Given the description of an element on the screen output the (x, y) to click on. 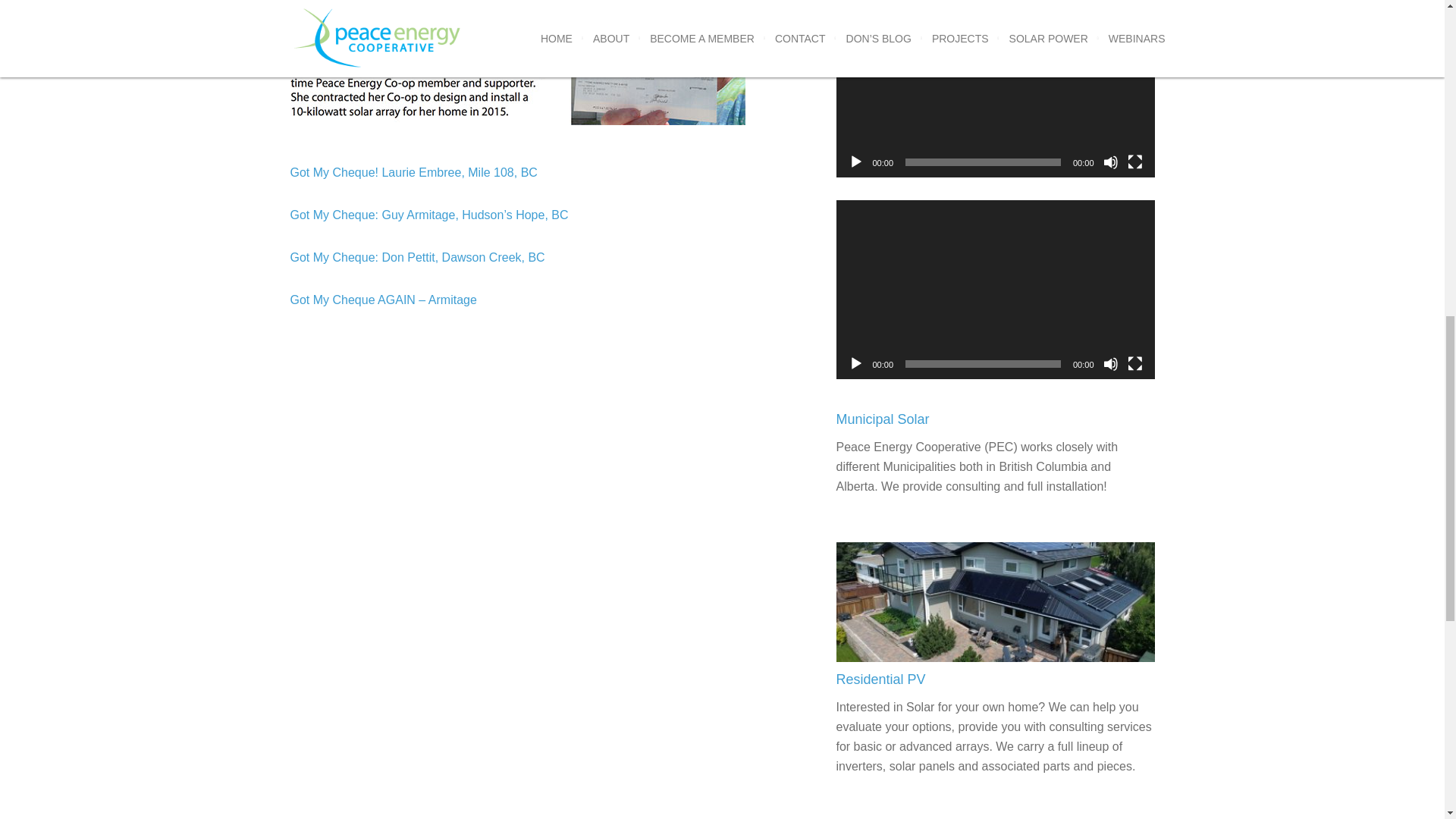
Play (855, 161)
Fullscreen (1133, 161)
Mute (1110, 161)
